Given the description of an element on the screen output the (x, y) to click on. 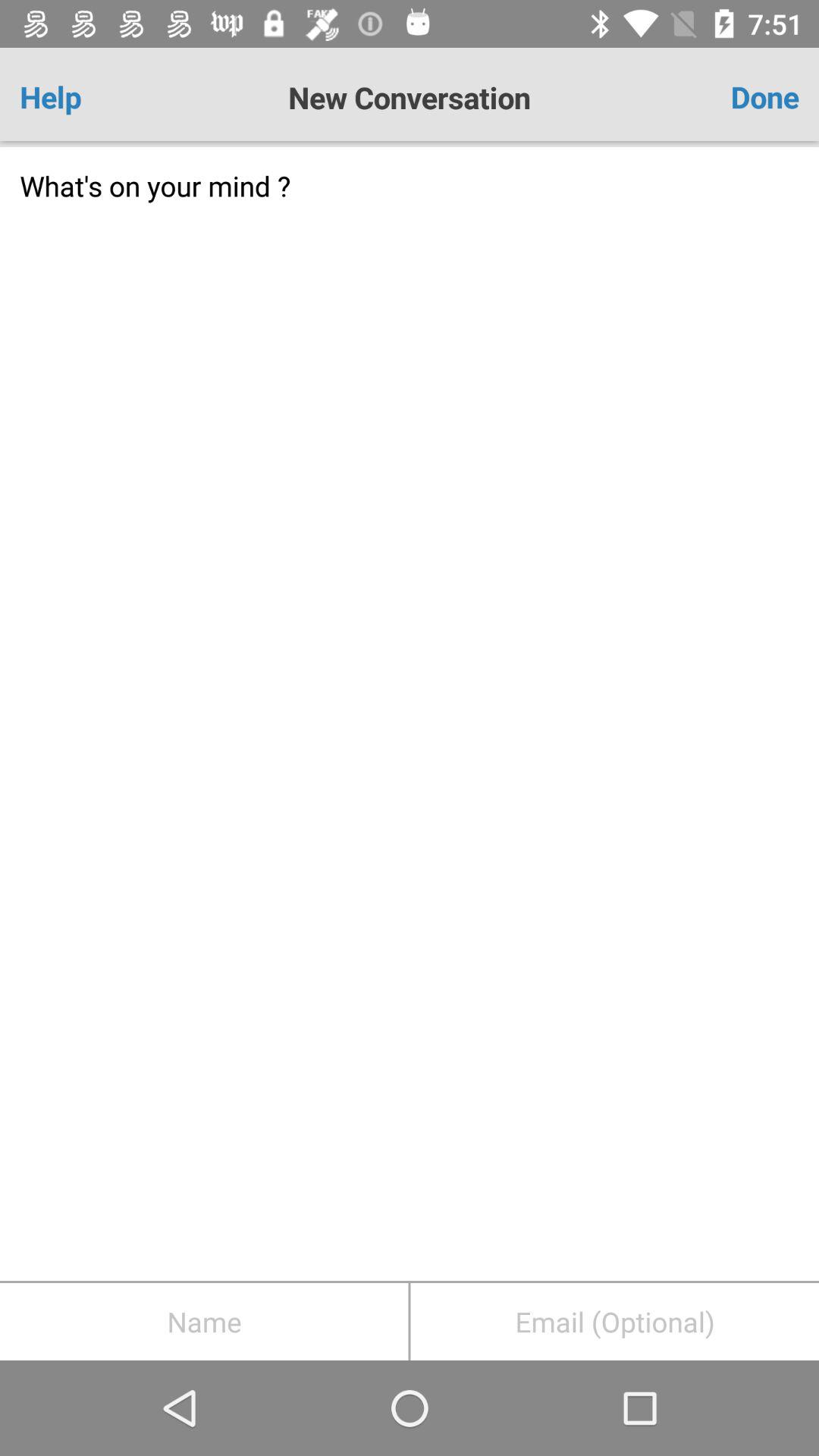
tap icon at the top right corner (735, 97)
